Given the description of an element on the screen output the (x, y) to click on. 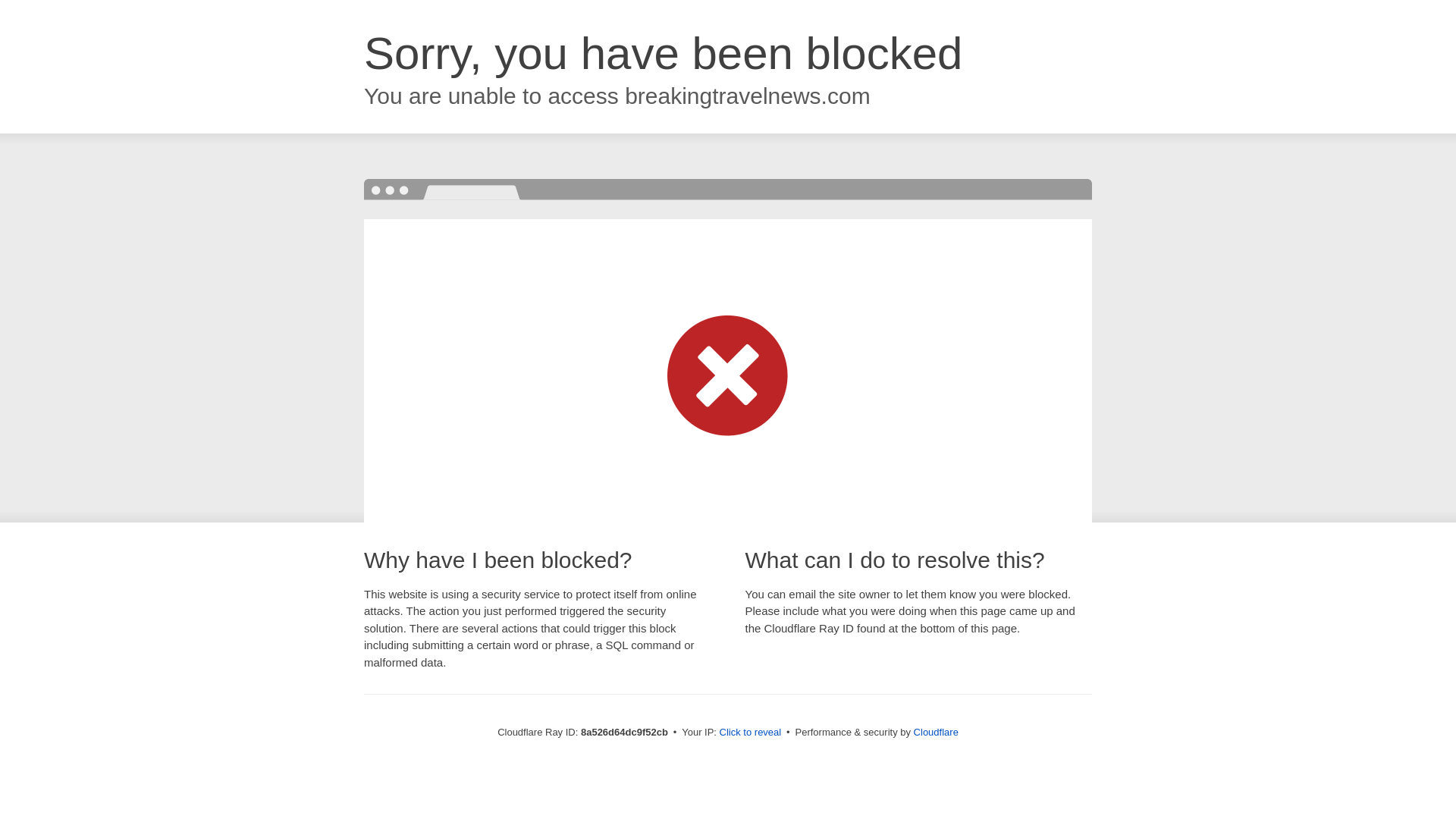
Click to reveal (750, 732)
Cloudflare (936, 731)
